Given the description of an element on the screen output the (x, y) to click on. 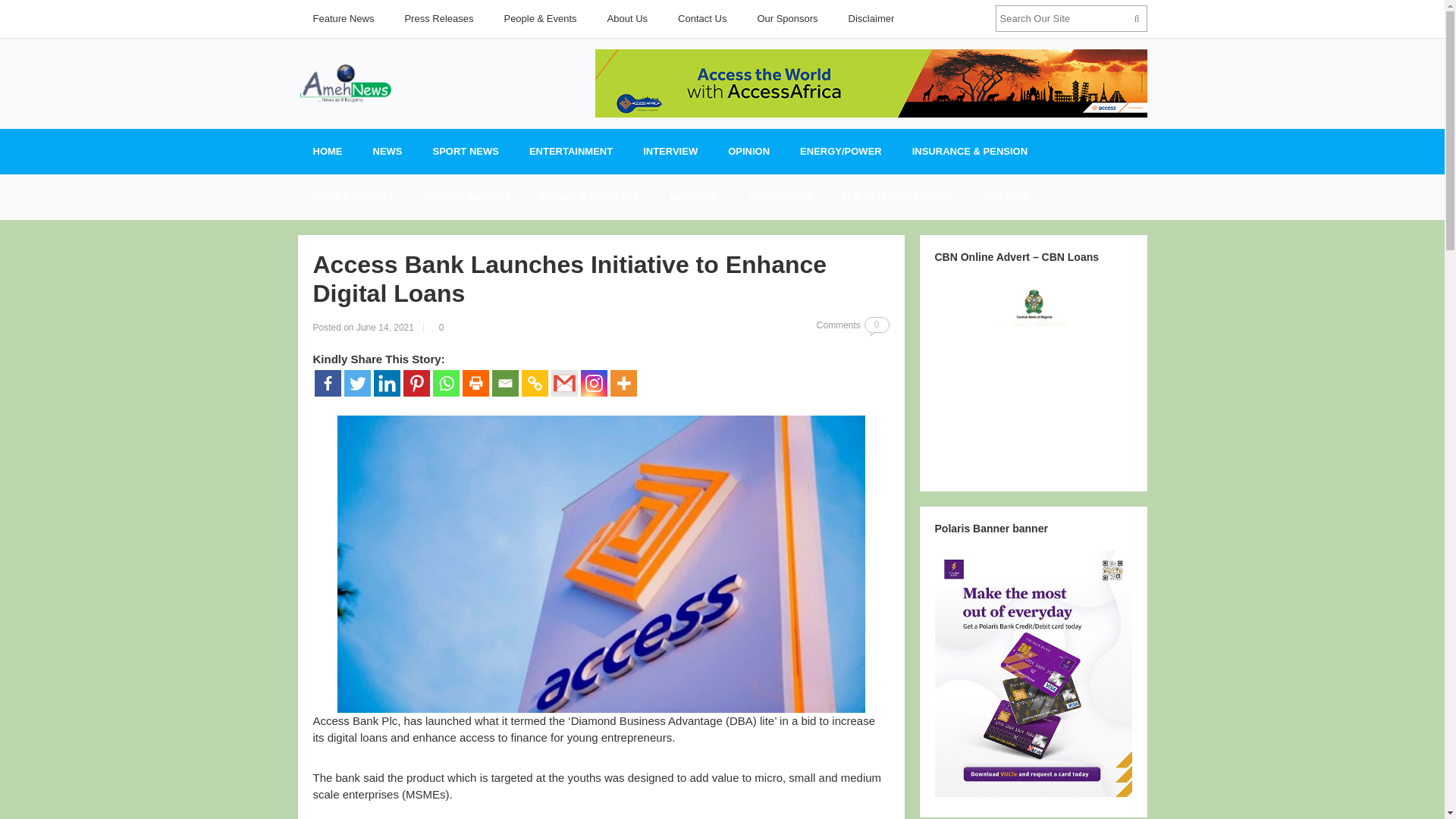
Google Gmail (563, 383)
Pinterest (416, 383)
NEWS (387, 151)
Like this (437, 327)
MONEY MARKET (353, 197)
ENTERTAINMENT (570, 151)
Twitter (357, 383)
Print (476, 383)
Whatsapp (445, 383)
Disclaimer (871, 18)
